Given the description of an element on the screen output the (x, y) to click on. 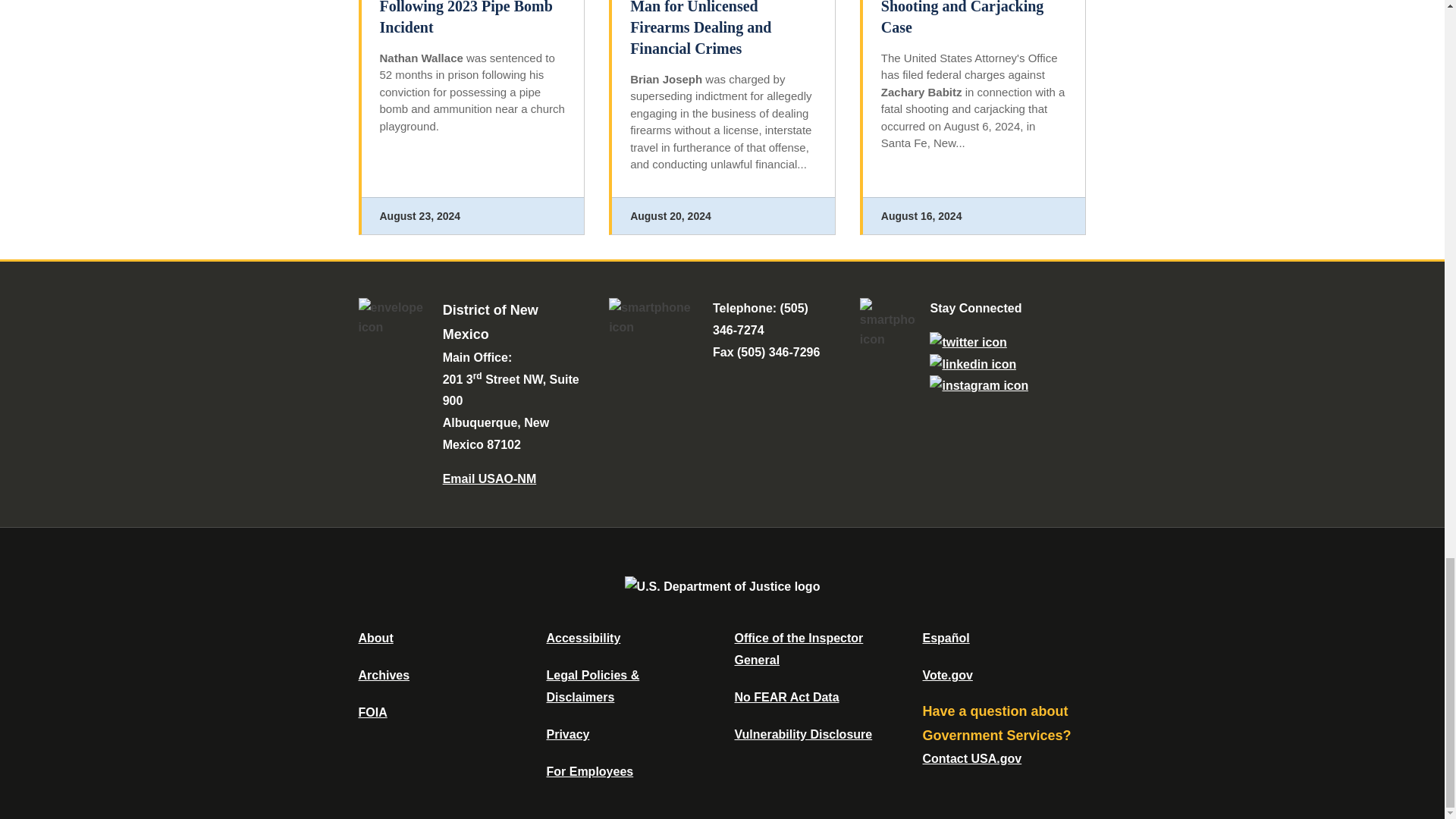
About DOJ (375, 637)
Department of Justice Archive (383, 675)
For Employees (589, 771)
Office of Information Policy (372, 712)
Accessibility Statement (583, 637)
Legal Policies and Disclaimers (592, 686)
Data Posted Pursuant To The No Fear Act (785, 697)
